Given the description of an element on the screen output the (x, y) to click on. 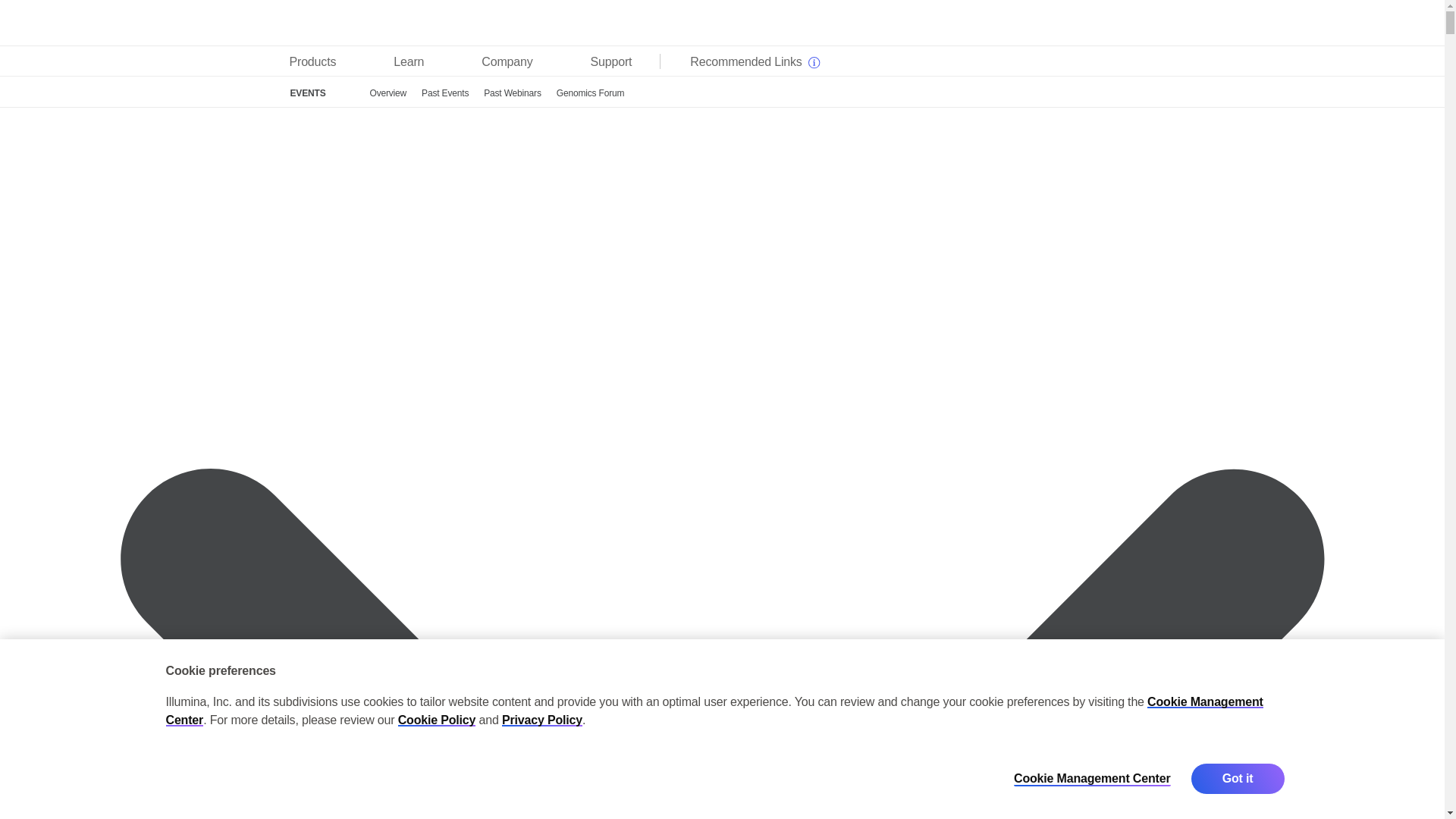
Learn (408, 61)
Support (611, 61)
Company (506, 61)
Products (311, 61)
Recommended Links (751, 61)
